Given the description of an element on the screen output the (x, y) to click on. 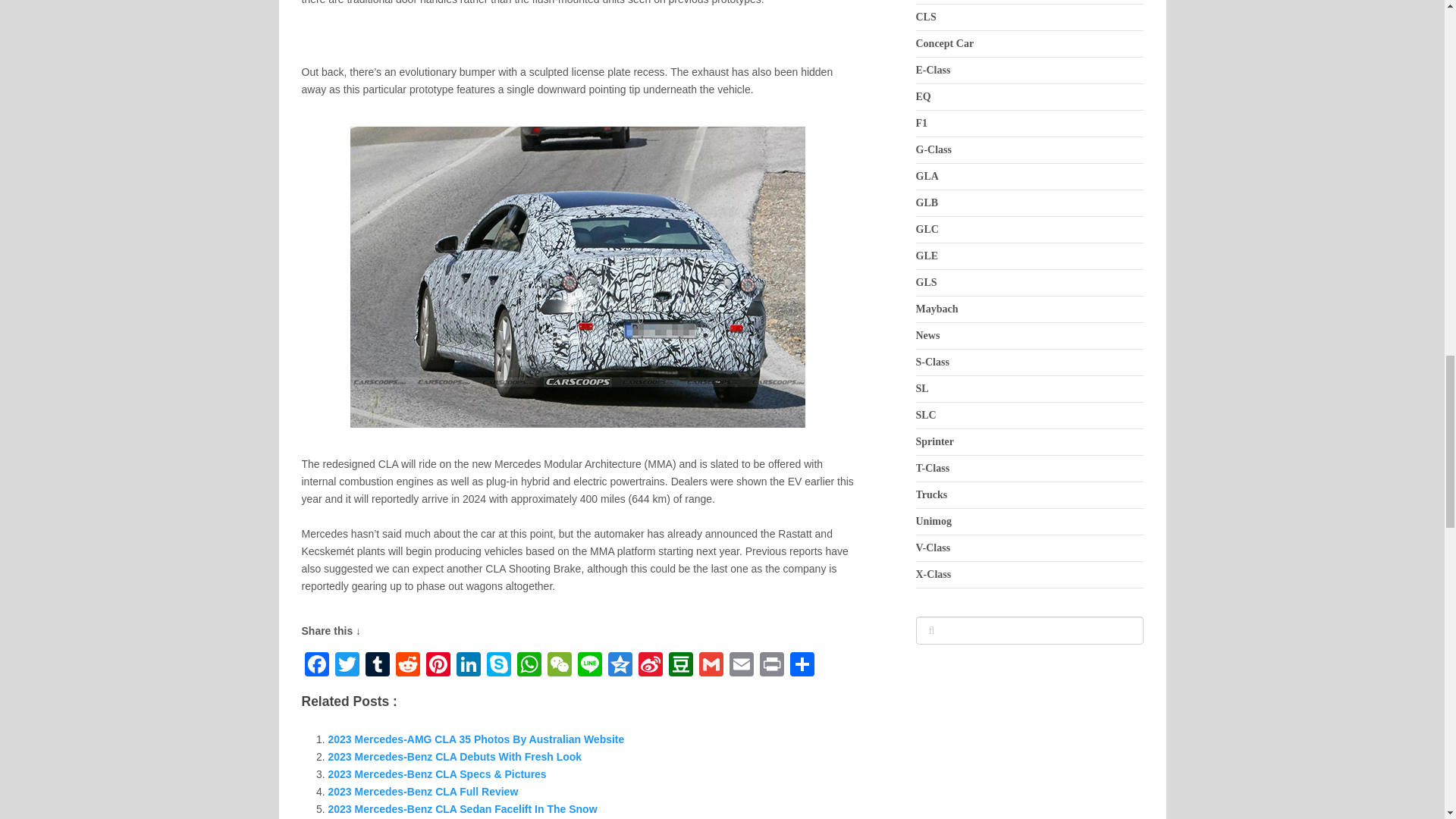
Facebook (316, 665)
Tumblr (377, 665)
Twitter (346, 665)
